Given the description of an element on the screen output the (x, y) to click on. 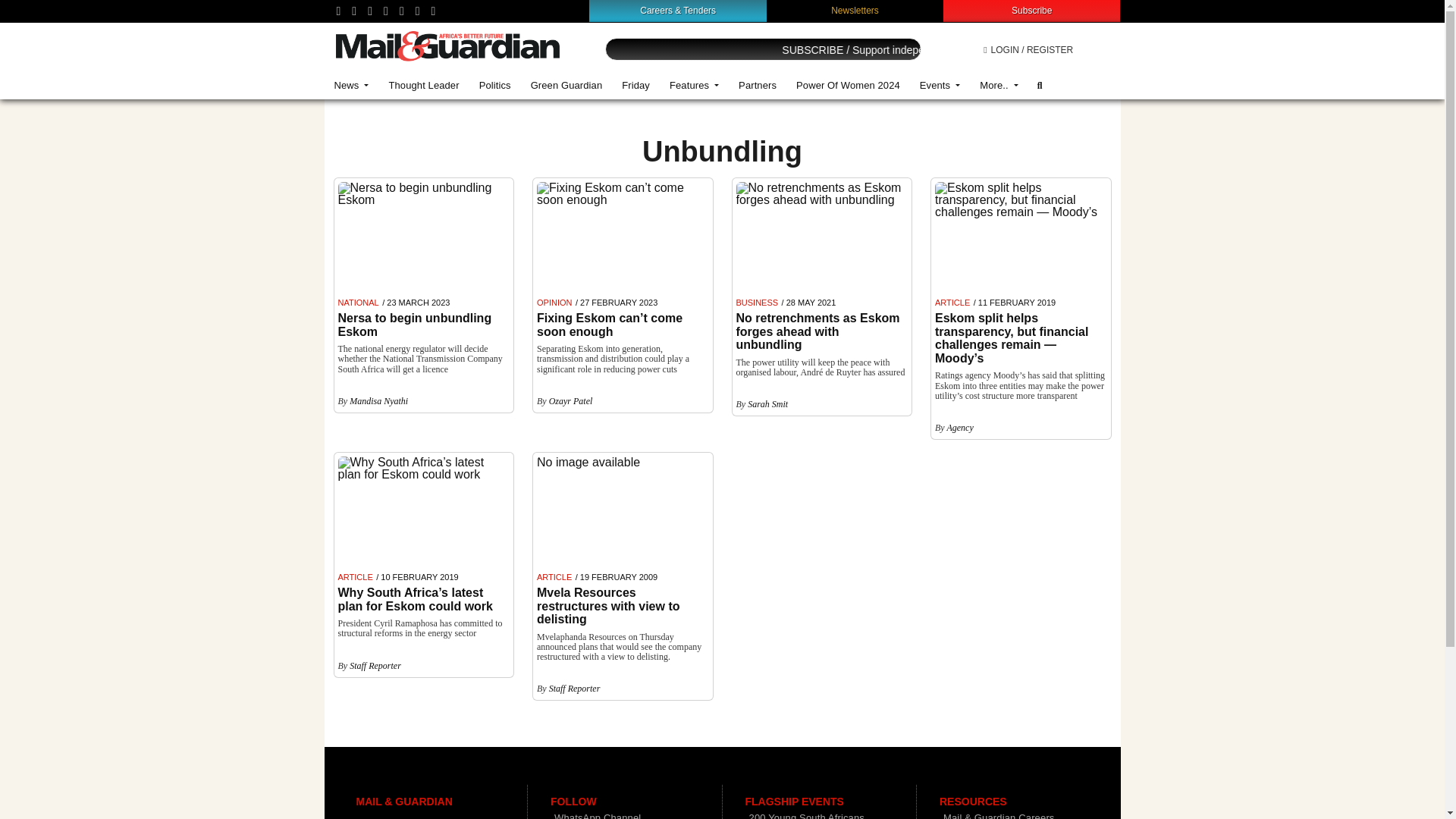
Politics (494, 85)
News (351, 85)
Green Guardian (566, 85)
Thought Leader (423, 85)
News (351, 85)
Newsletters (855, 9)
Subscribe (1031, 9)
Friday (635, 85)
